Given the description of an element on the screen output the (x, y) to click on. 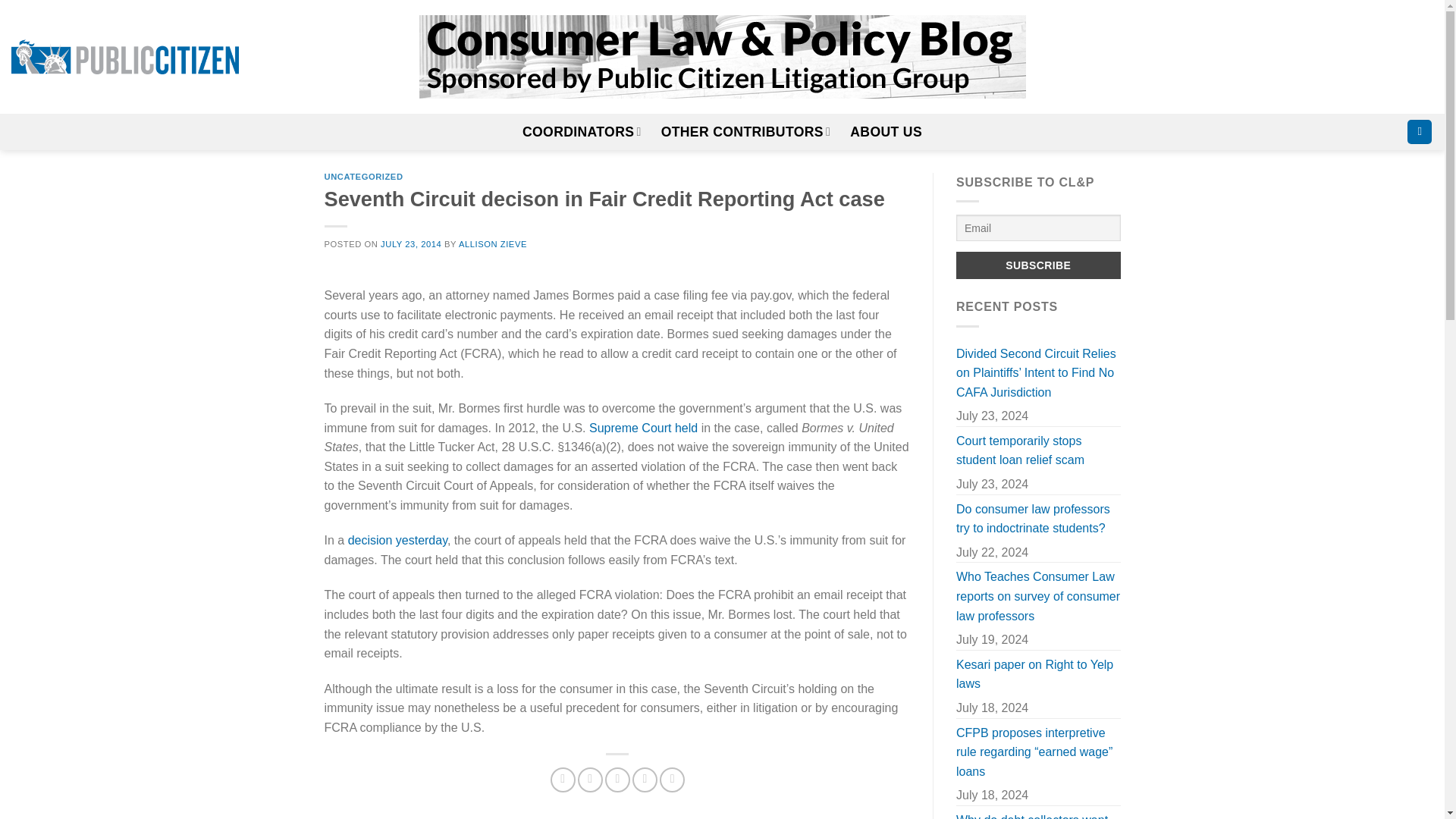
Share on Twitter (590, 779)
Subscribe (1038, 265)
Subscribe (1038, 265)
ALLISON ZIEVE (492, 243)
Share on Facebook (562, 779)
COORDINATORS (582, 131)
Email to a Friend (617, 779)
OTHER CONTRIBUTORS (746, 131)
Do consumer law professors try to indoctrinate students? (1038, 518)
decision yesterday (396, 540)
Pin on Pinterest (644, 779)
UNCATEGORIZED (363, 175)
JULY 23, 2014 (410, 243)
Court temporarily stops student loan relief scam (1038, 450)
Share on LinkedIn (671, 779)
